Given the description of an element on the screen output the (x, y) to click on. 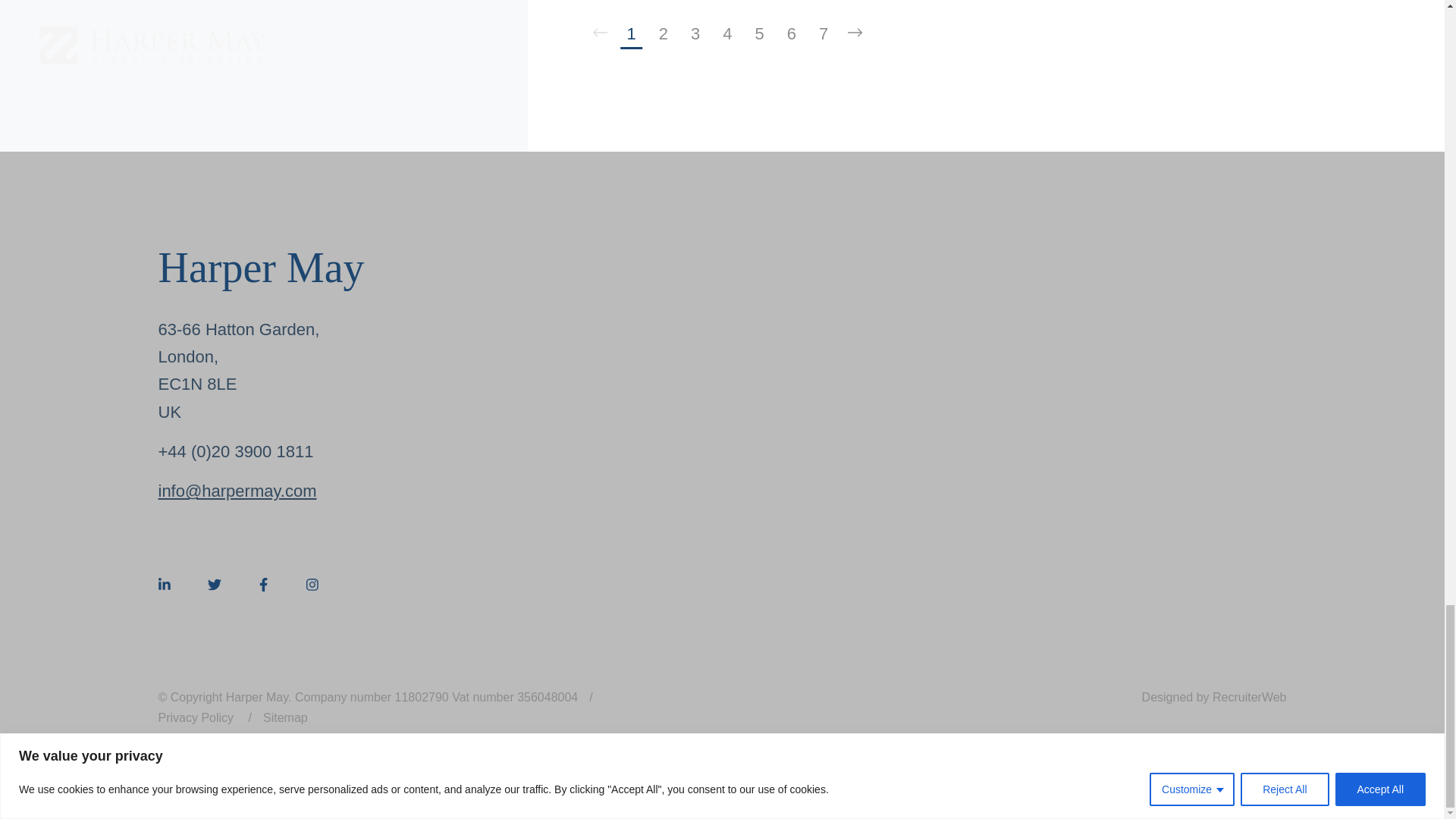
RecruiterWEB (1214, 697)
